Given the description of an element on the screen output the (x, y) to click on. 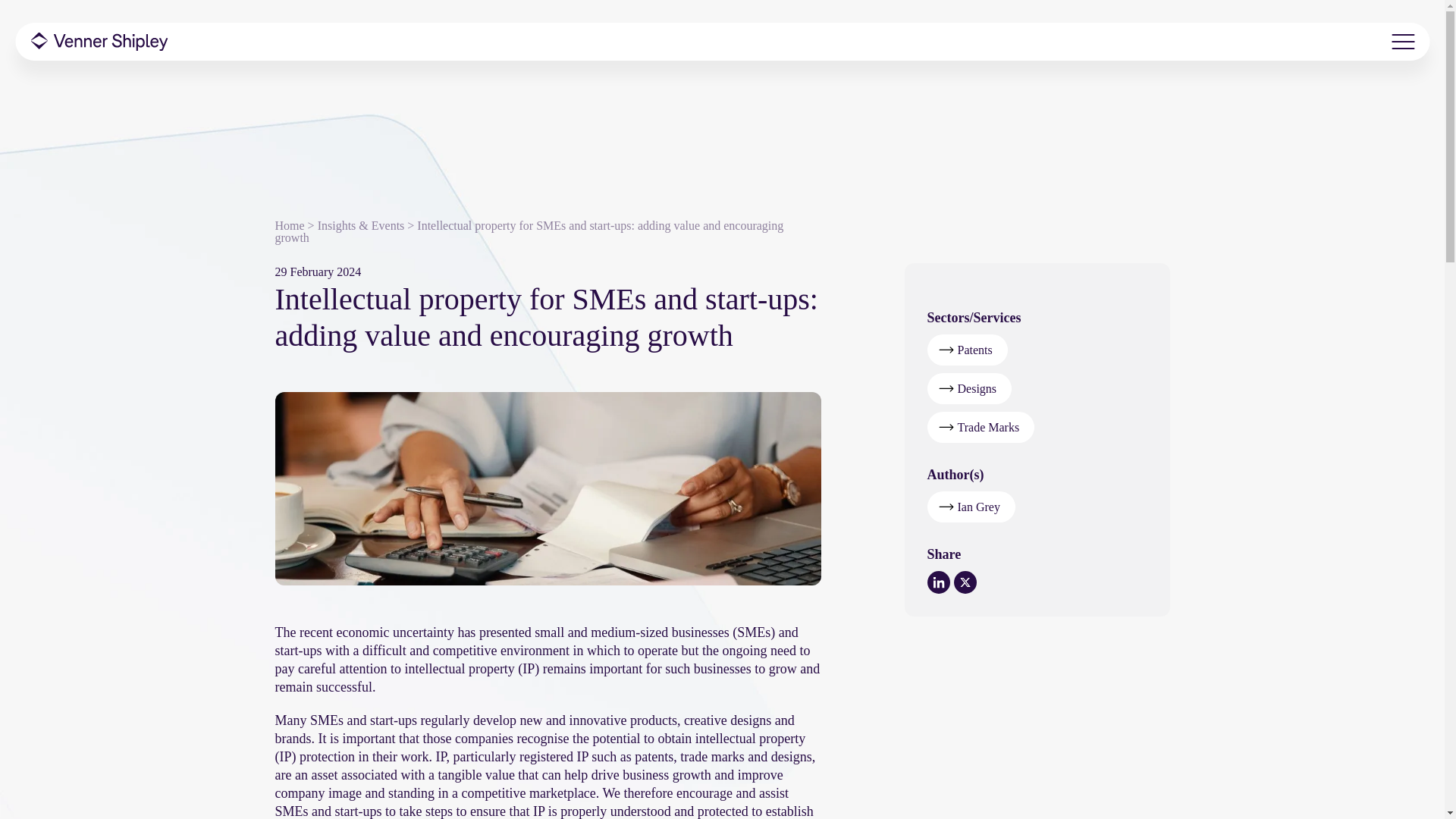
Venner Shipley (98, 40)
